Given the description of an element on the screen output the (x, y) to click on. 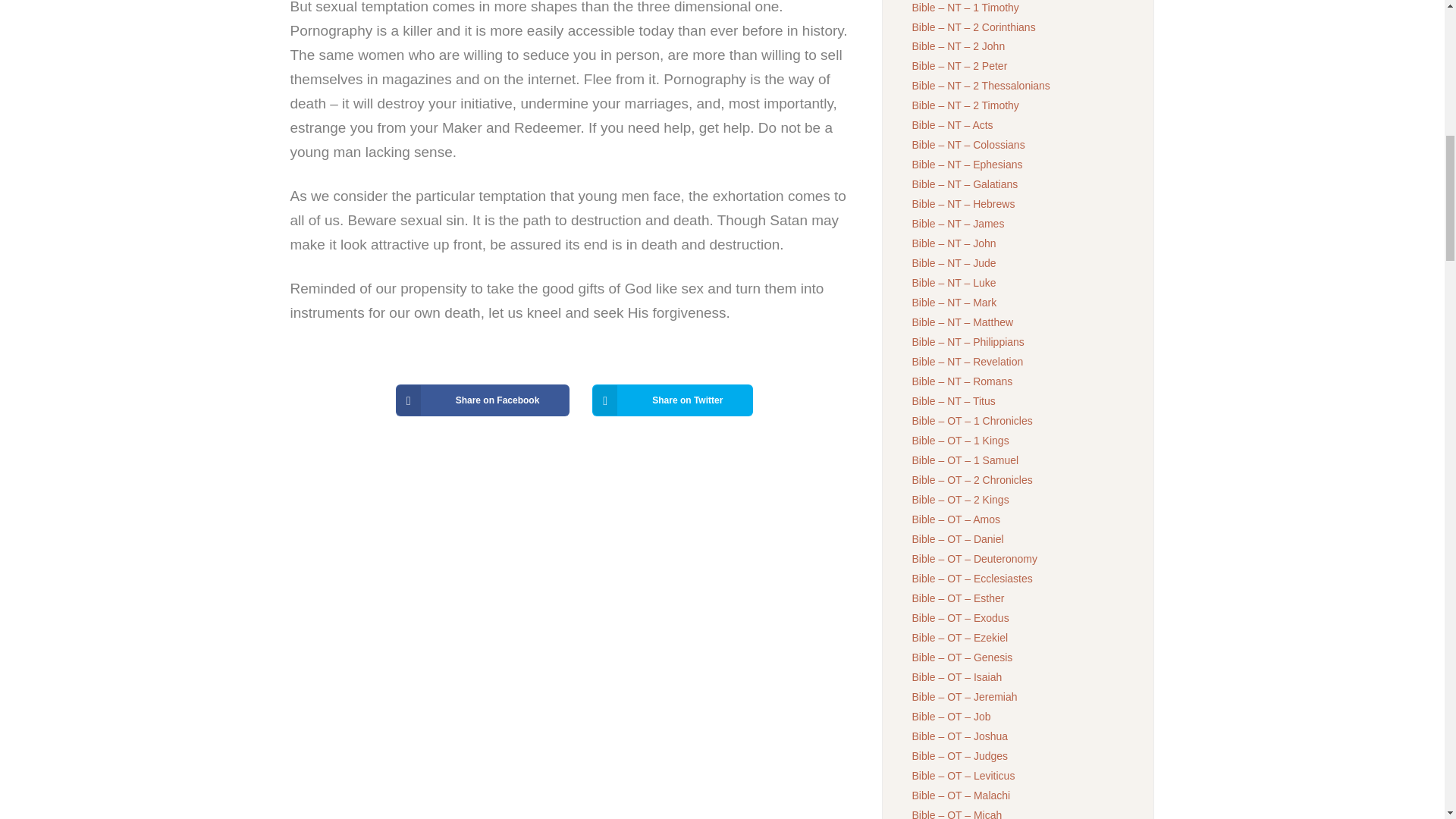
Share on Facebook (483, 400)
Share on Twitter (672, 400)
